Given the description of an element on the screen output the (x, y) to click on. 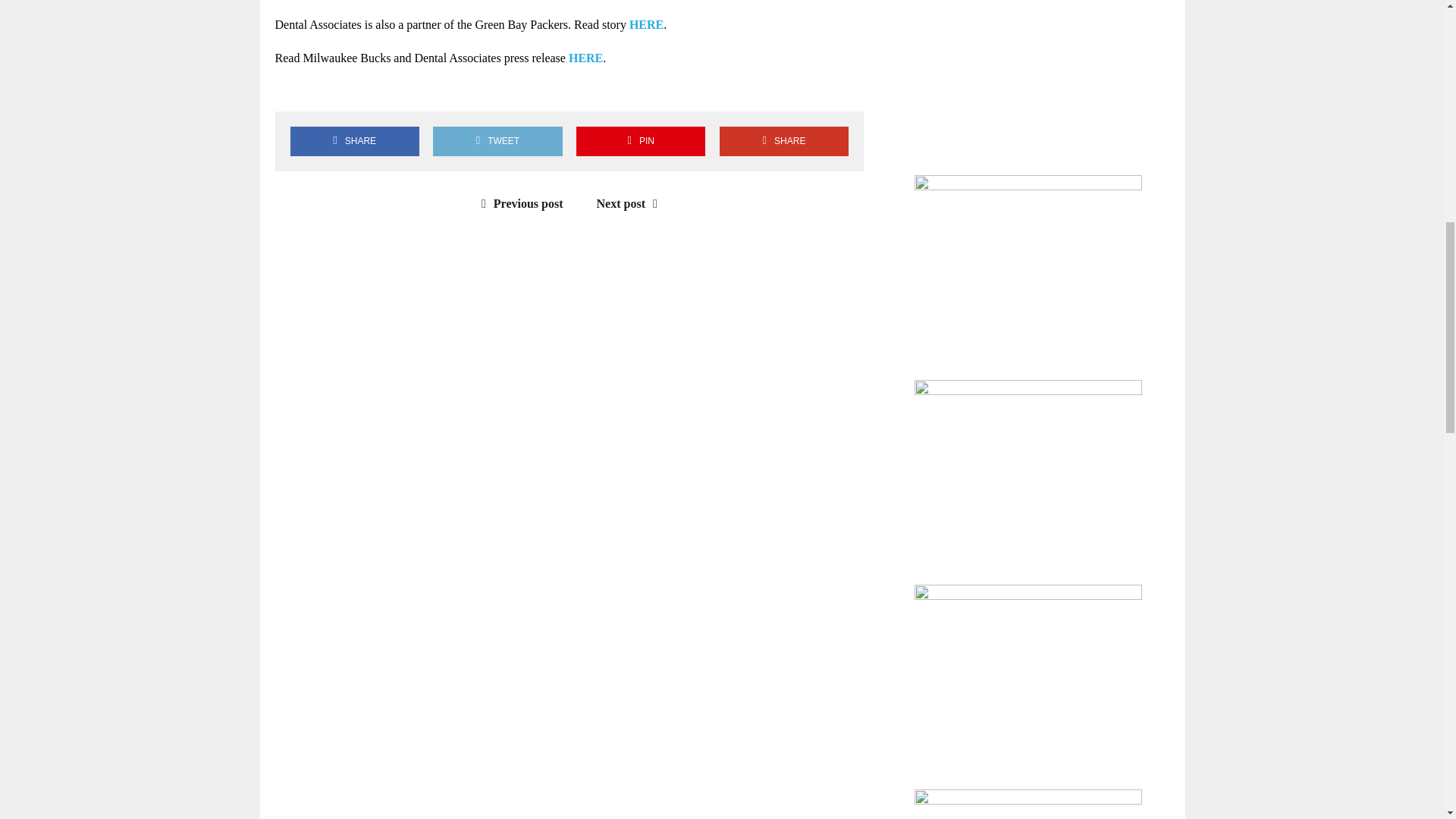
Share by email (424, 85)
Share on Linkedin (380, 85)
Share on Facebook (293, 85)
Share on Twitter (336, 85)
